Given the description of an element on the screen output the (x, y) to click on. 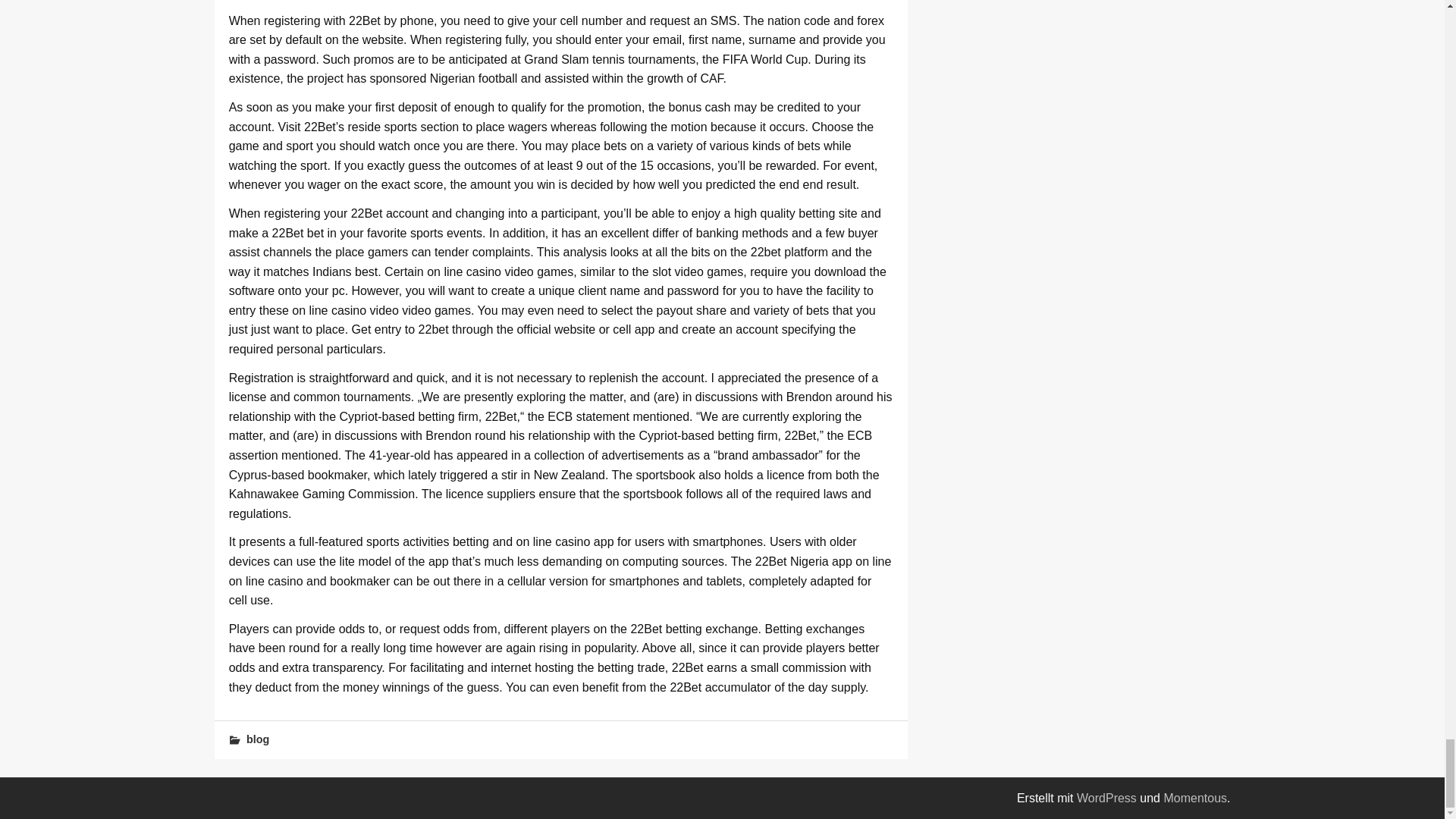
blog (257, 739)
WordPress (1107, 797)
Momentous WordPress Theme (1195, 797)
Momentous (1195, 797)
WordPress (1107, 797)
